Given the description of an element on the screen output the (x, y) to click on. 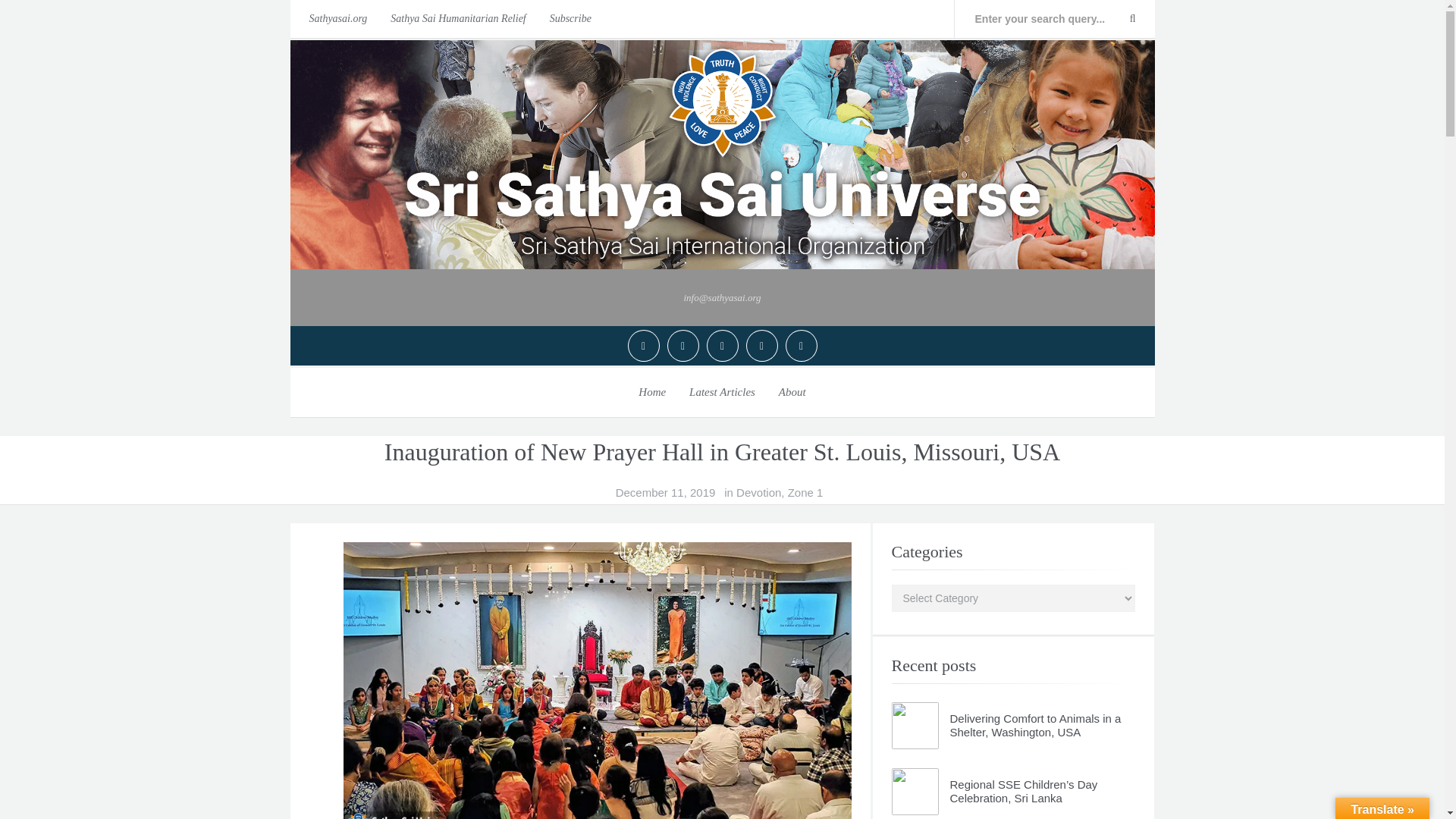
Sathyasai.org (333, 18)
Zone 1 (805, 492)
Latest Articles (722, 391)
Home (652, 391)
Sathya Sai Humanitarian Relief (457, 18)
About (791, 391)
Devotion (758, 492)
Subscribe (570, 18)
Subscribe to emails (570, 18)
